Given the description of an element on the screen output the (x, y) to click on. 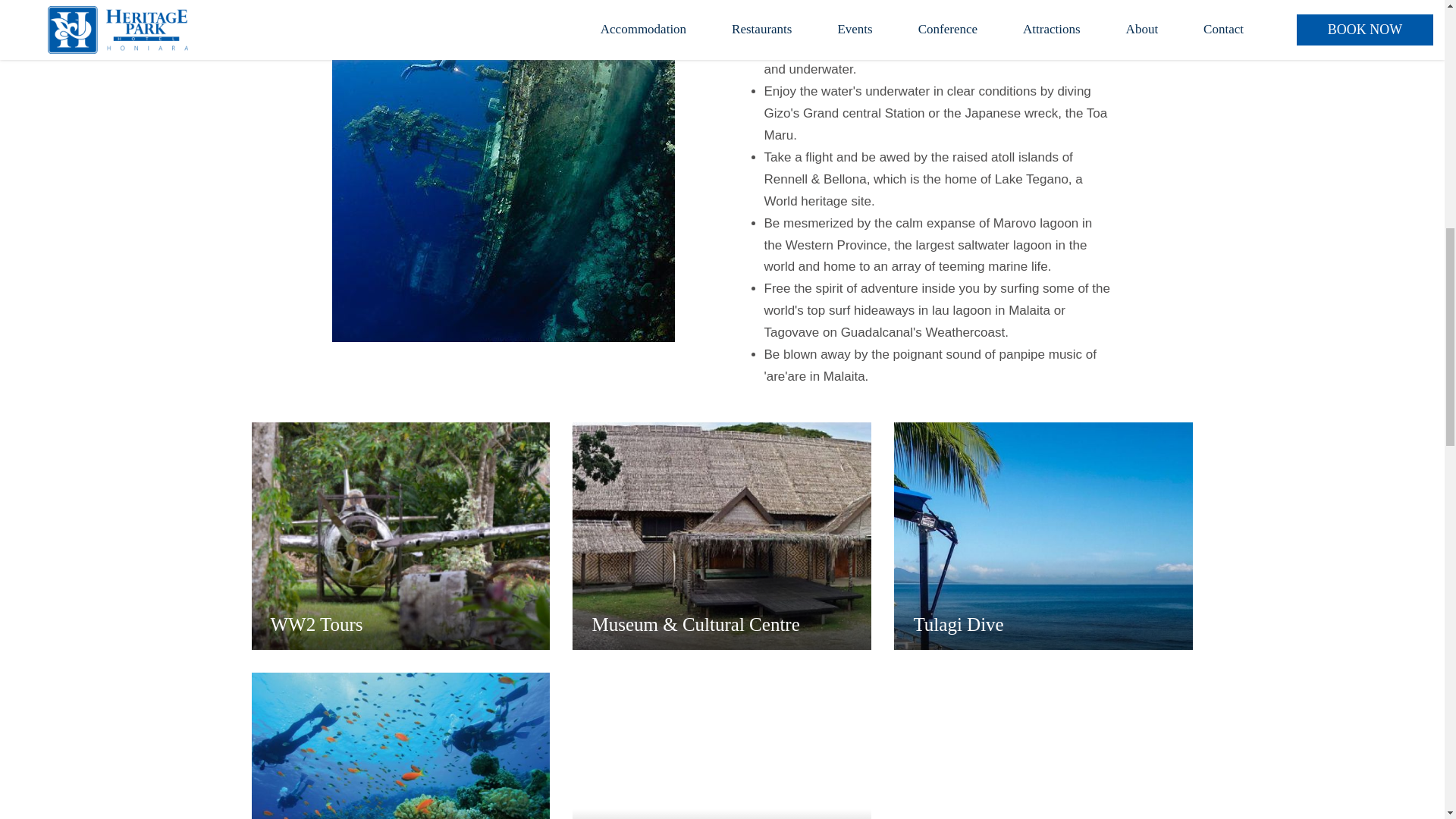
Tulagi Dive (1042, 536)
WW2 Tours (400, 536)
Golf course (721, 745)
Diving (400, 745)
